Given the description of an element on the screen output the (x, y) to click on. 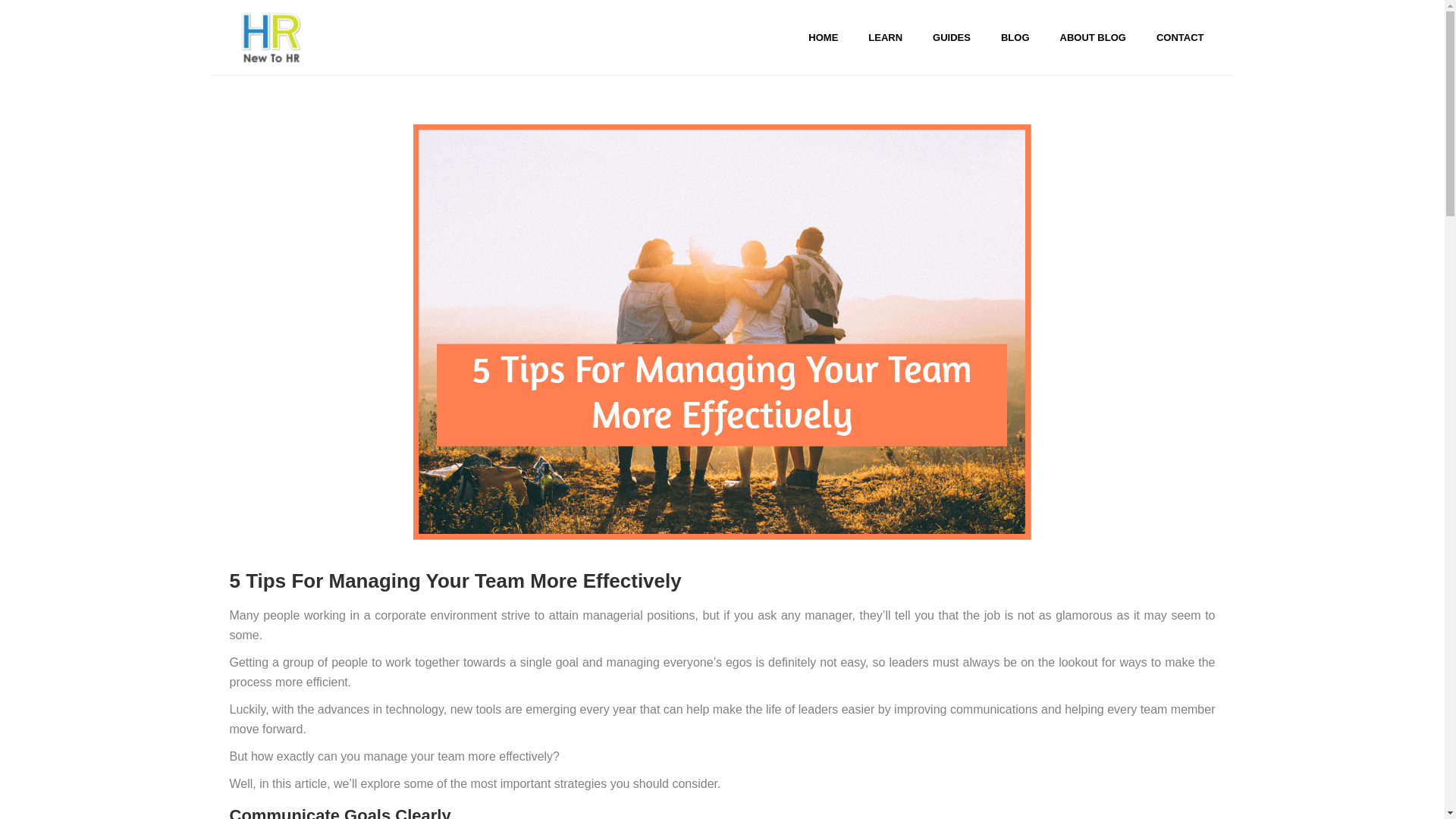
ABOUT BLOG (1093, 37)
GUIDES (951, 37)
Contact Us (1180, 37)
Guides (951, 37)
About Blog (1093, 37)
CONTACT (1180, 37)
